Given the description of an element on the screen output the (x, y) to click on. 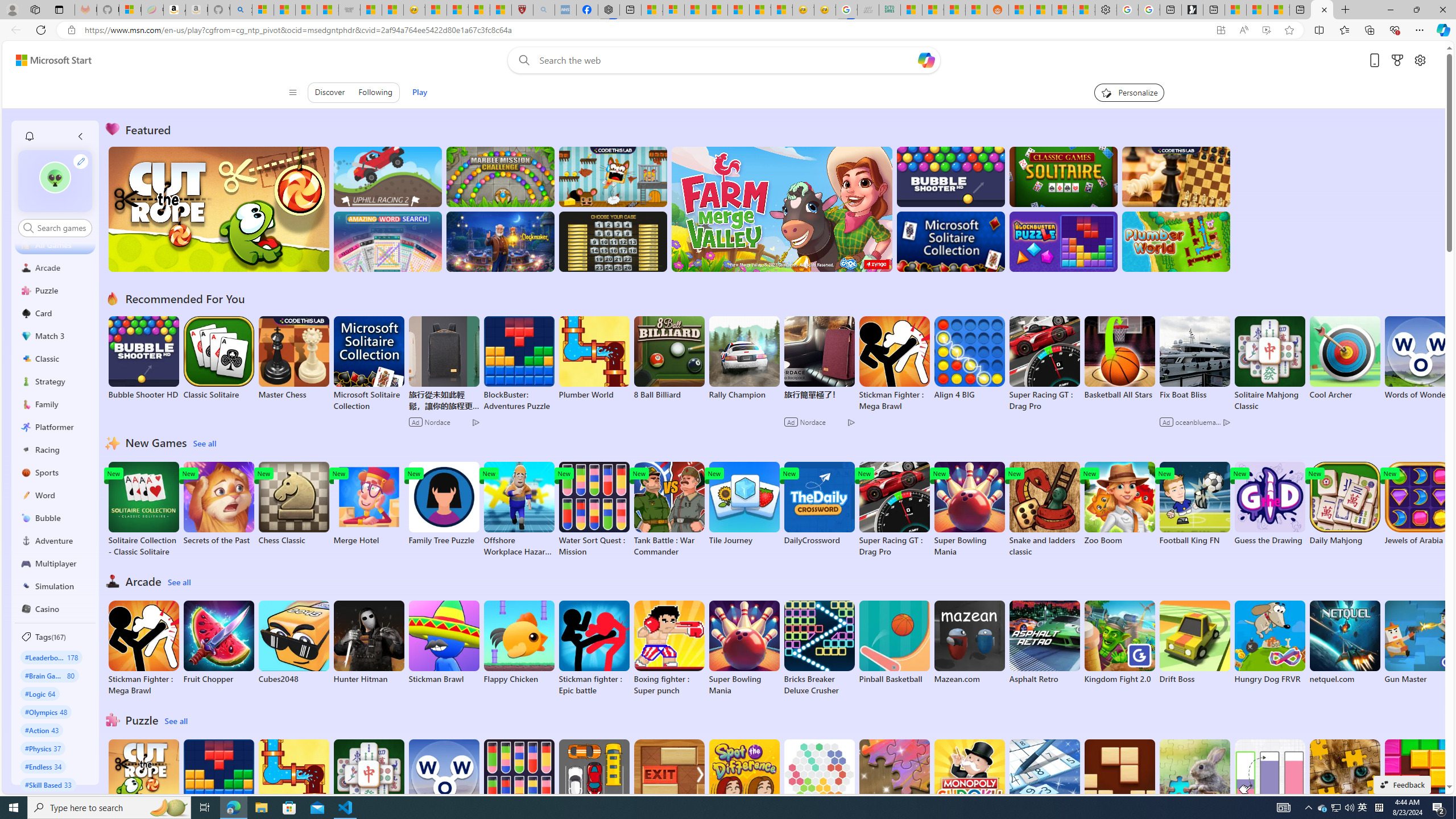
Robert H. Shmerling, MD - Harvard Health (522, 9)
#Brain Games 80 (49, 675)
Open settings (1420, 60)
Secrets of the Past (218, 503)
Play (419, 92)
Daily Mahjong (1344, 503)
Clockmaker (499, 241)
